Given the description of an element on the screen output the (x, y) to click on. 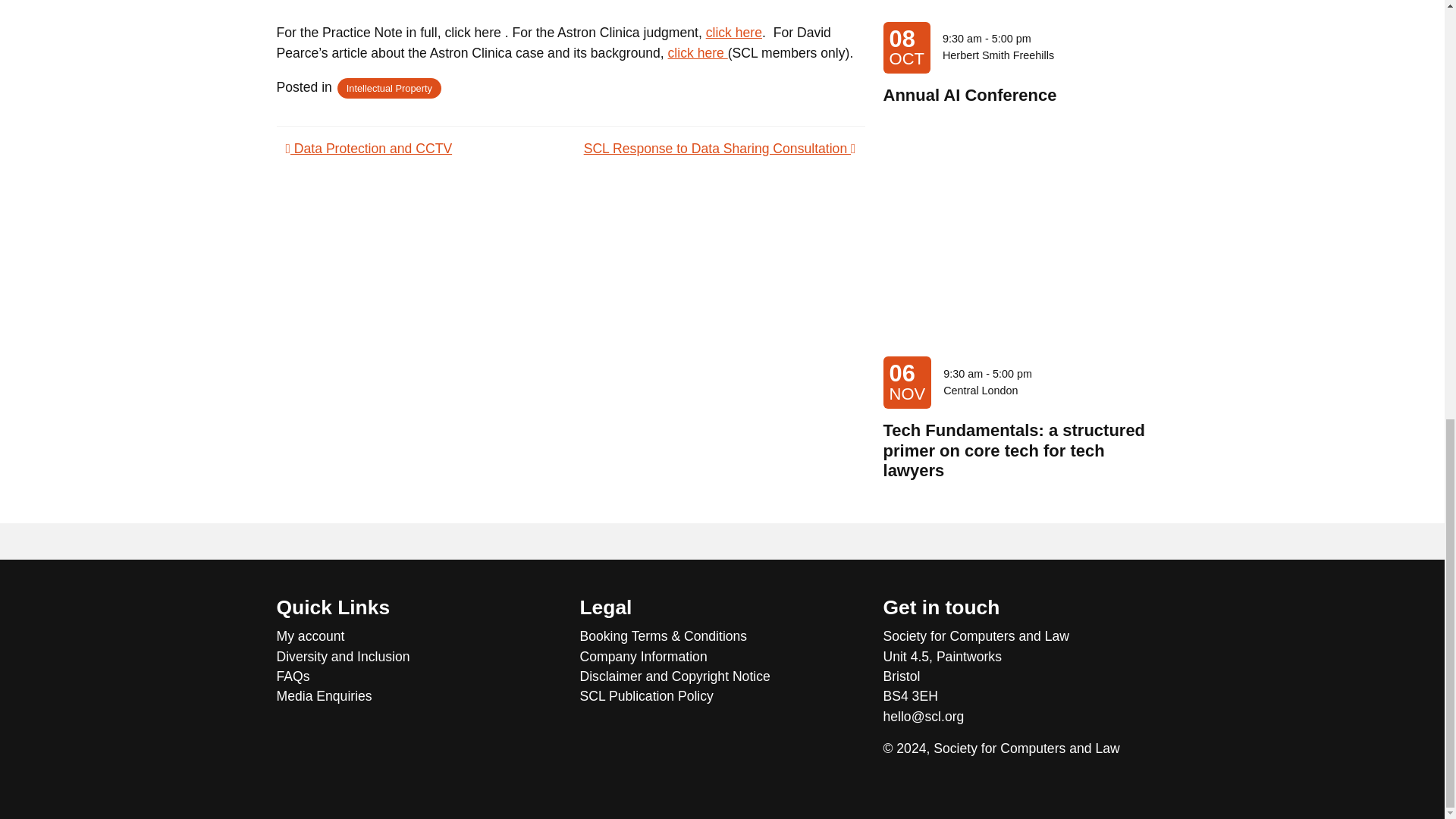
Company Information (721, 656)
My account (418, 636)
Company Information (721, 656)
My account (418, 636)
SCL Publication Policy (721, 695)
Annual AI Conference (970, 94)
Diversity and Inclusion (418, 656)
FAQs (418, 676)
SCL Response to Data Sharing Consultation  (719, 148)
 Data Protection and CCTV (368, 148)
Diversity and Inclusion (418, 656)
click here (698, 52)
Media Enquiries (418, 695)
Media Enquiries (418, 695)
FAQs (418, 676)
